Given the description of an element on the screen output the (x, y) to click on. 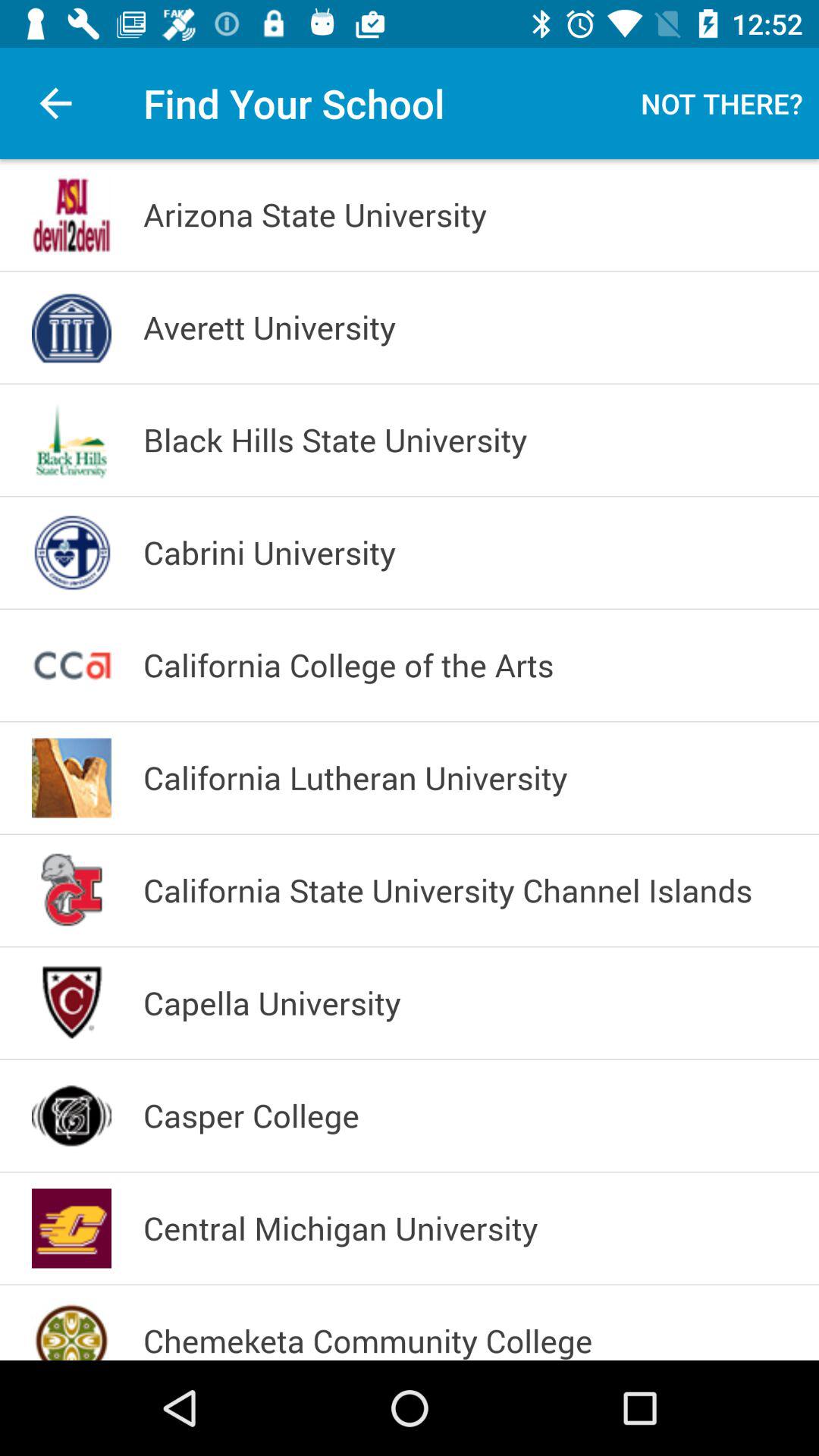
choose app to the left of find your school (55, 103)
